Given the description of an element on the screen output the (x, y) to click on. 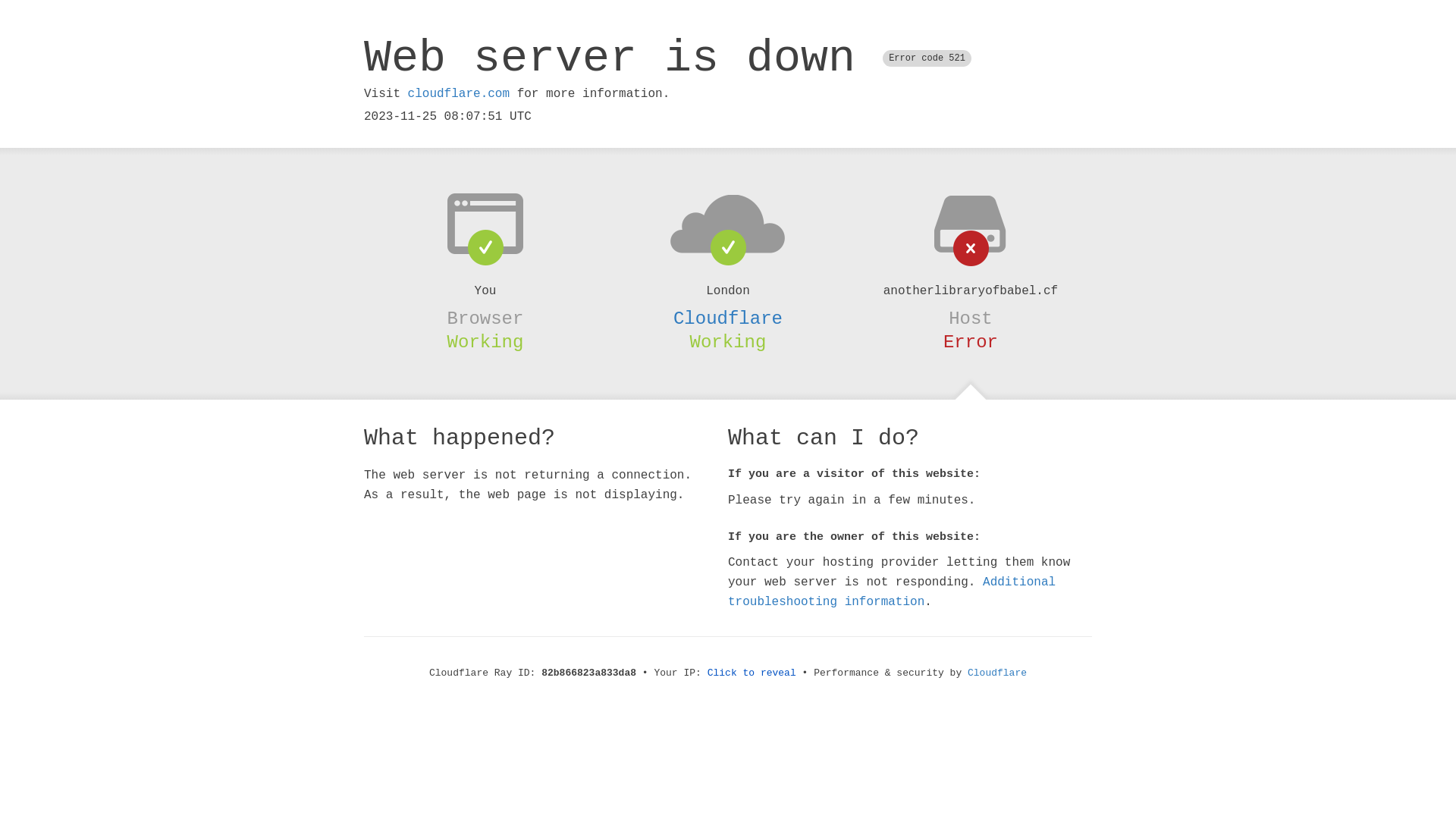
Cloudflare Element type: text (996, 672)
Click to reveal Element type: text (751, 672)
cloudflare.com Element type: text (458, 93)
Cloudflare Element type: text (727, 318)
Additional troubleshooting information Element type: text (891, 591)
